Given the description of an element on the screen output the (x, y) to click on. 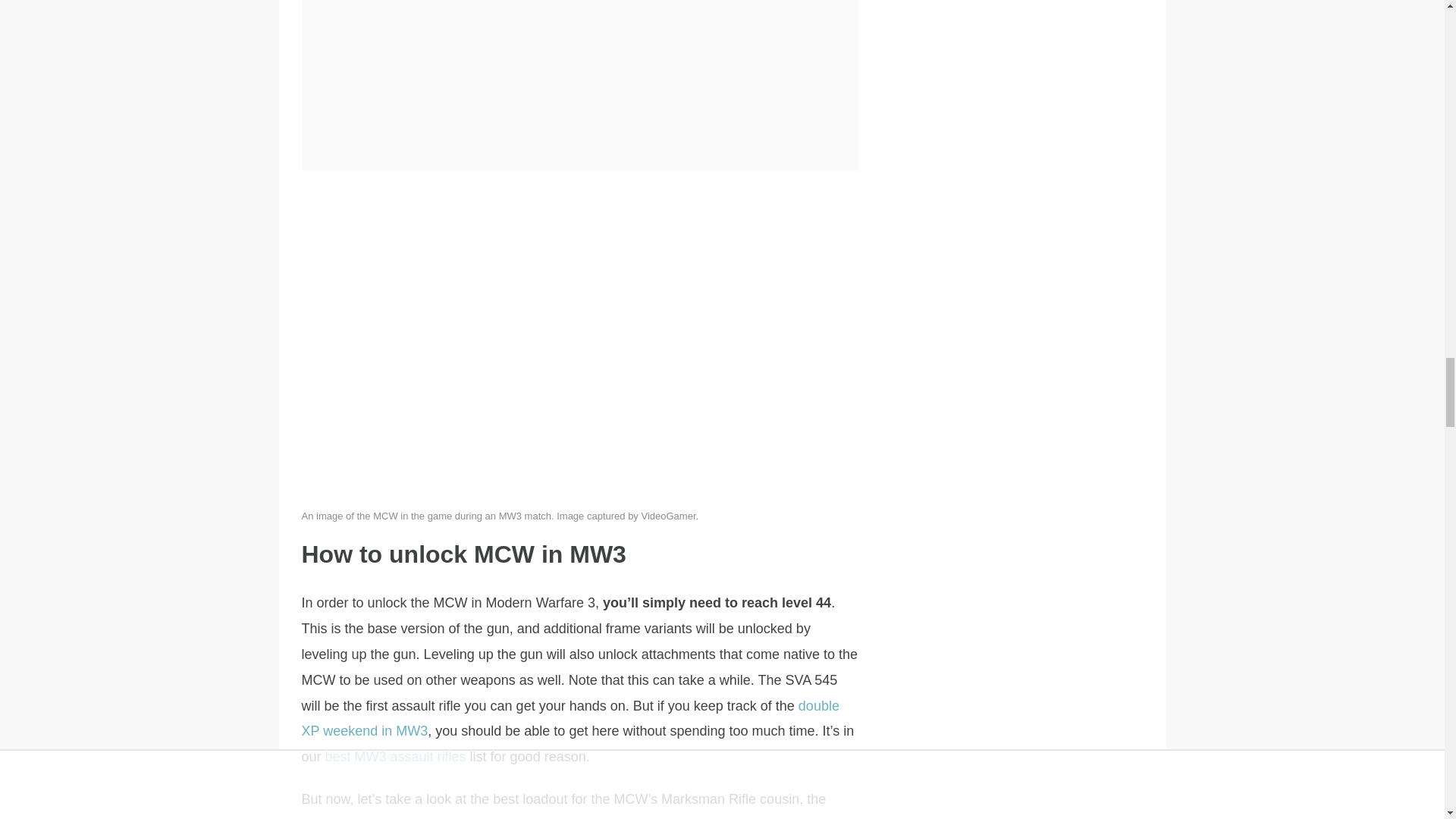
best MW3 assault rifles (394, 756)
double XP weekend in MW3 (570, 718)
